Given the description of an element on the screen output the (x, y) to click on. 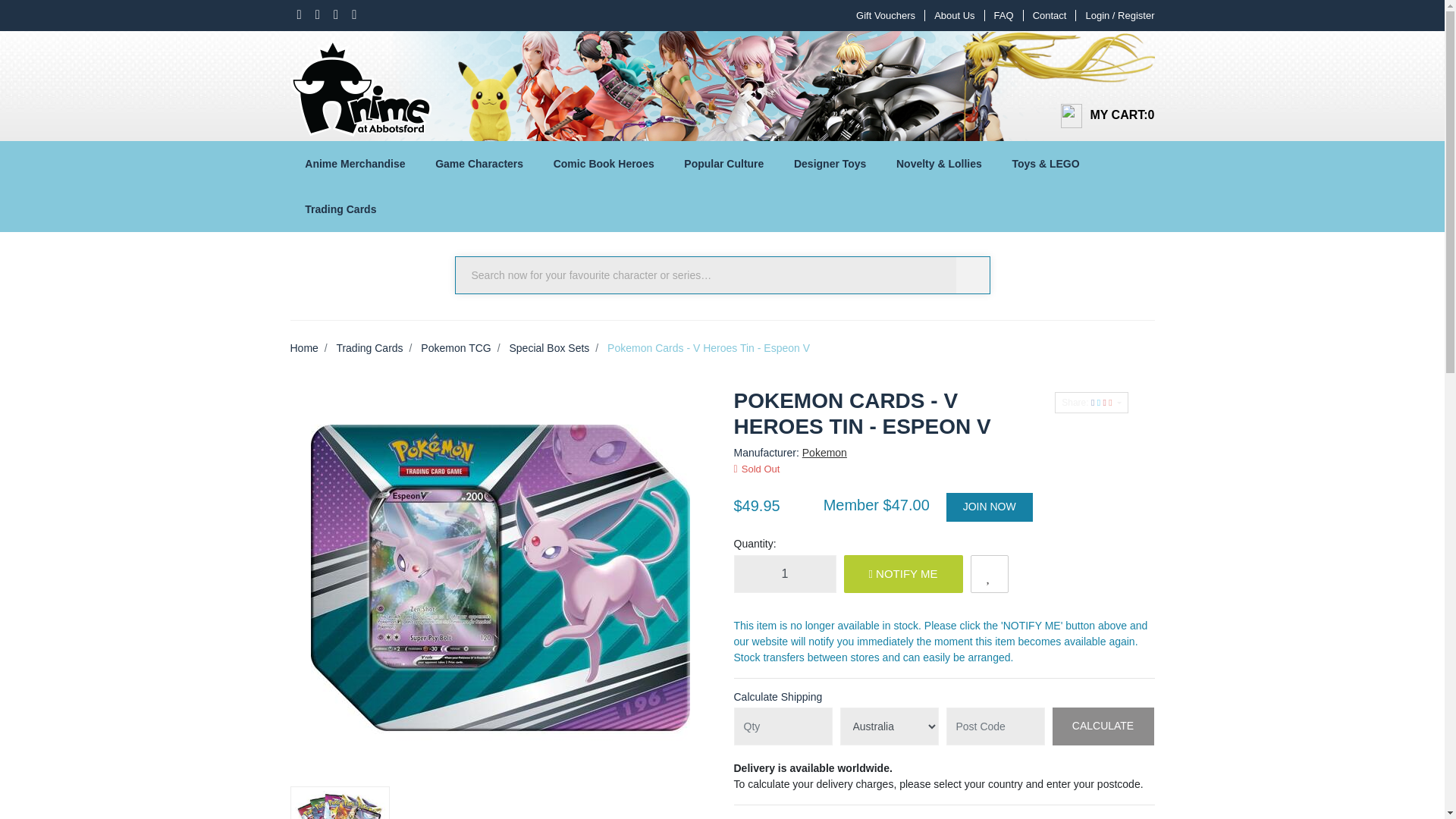
Gift Vouchers (885, 15)
FAQ (1004, 15)
Anime At Abbotsford (359, 82)
Calculate (1103, 726)
Login (1114, 15)
Contact (1050, 15)
About Us (954, 15)
Add To Wishlist (990, 573)
MY CART:0 (1101, 116)
1 (784, 573)
Anime Merchandise (354, 163)
